Given the description of an element on the screen output the (x, y) to click on. 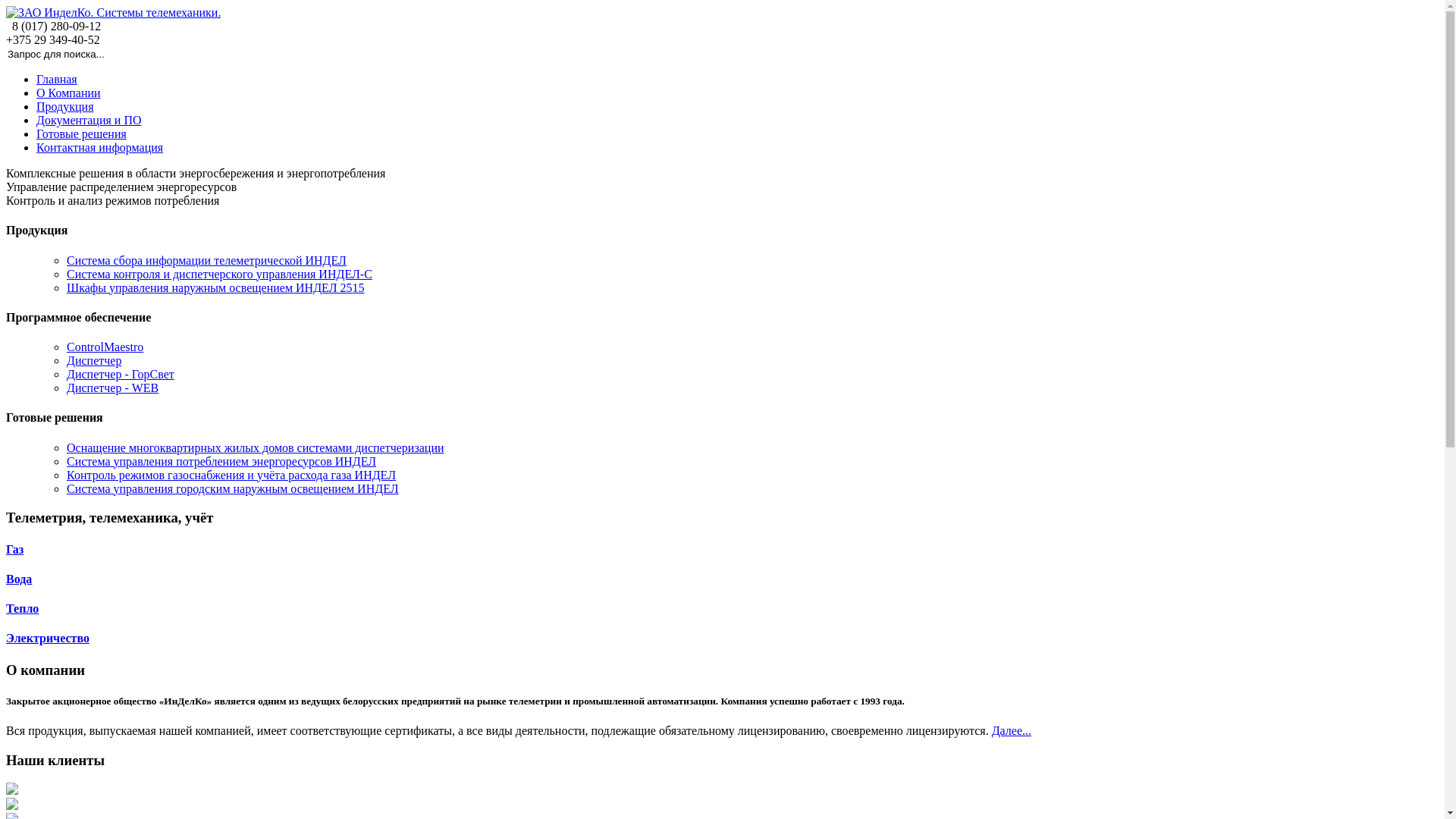
ControlMaestro Element type: text (104, 346)
